Given the description of an element on the screen output the (x, y) to click on. 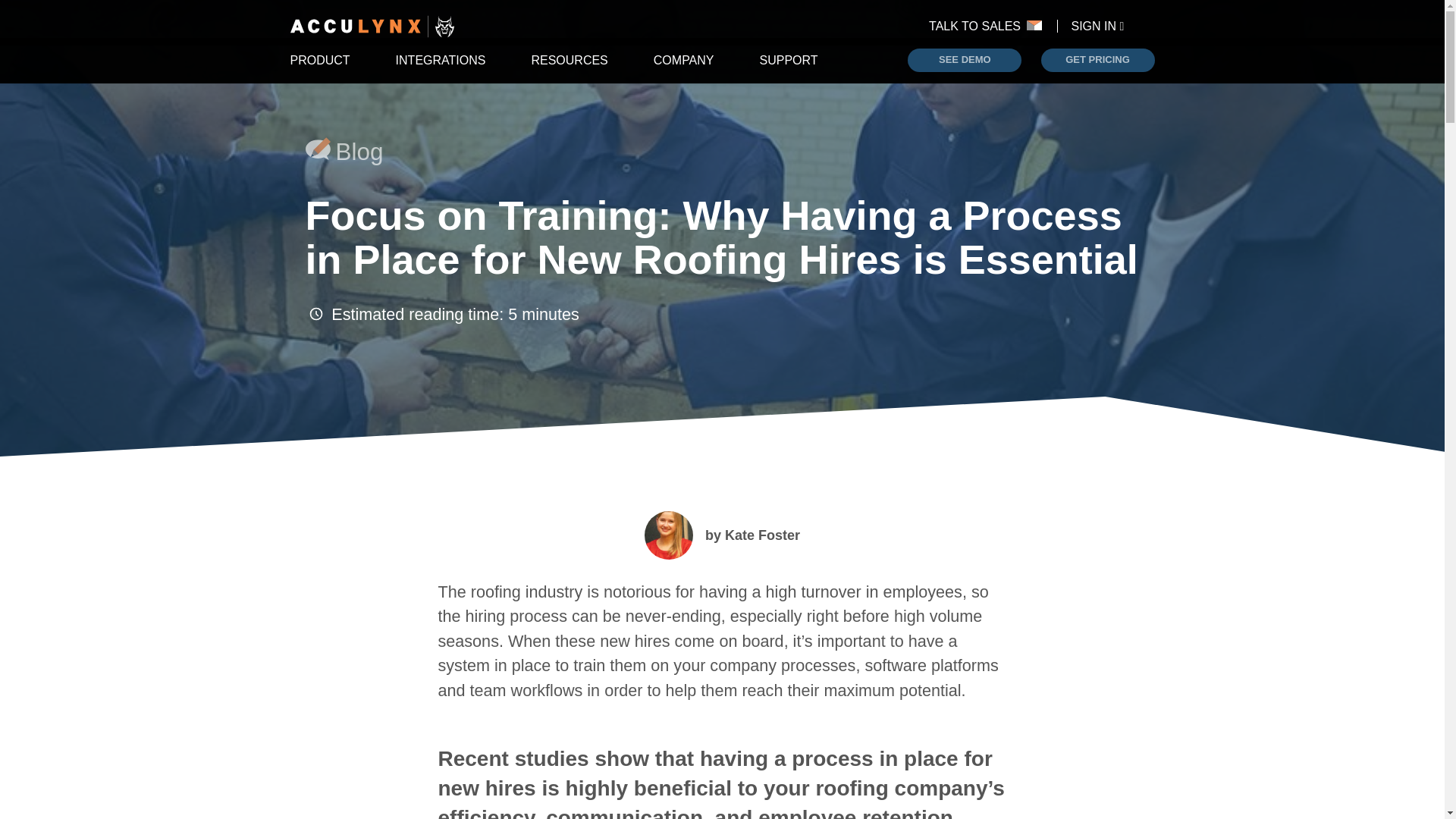
TALK TO SALES (992, 25)
SIGN IN (1098, 25)
